Given the description of an element on the screen output the (x, y) to click on. 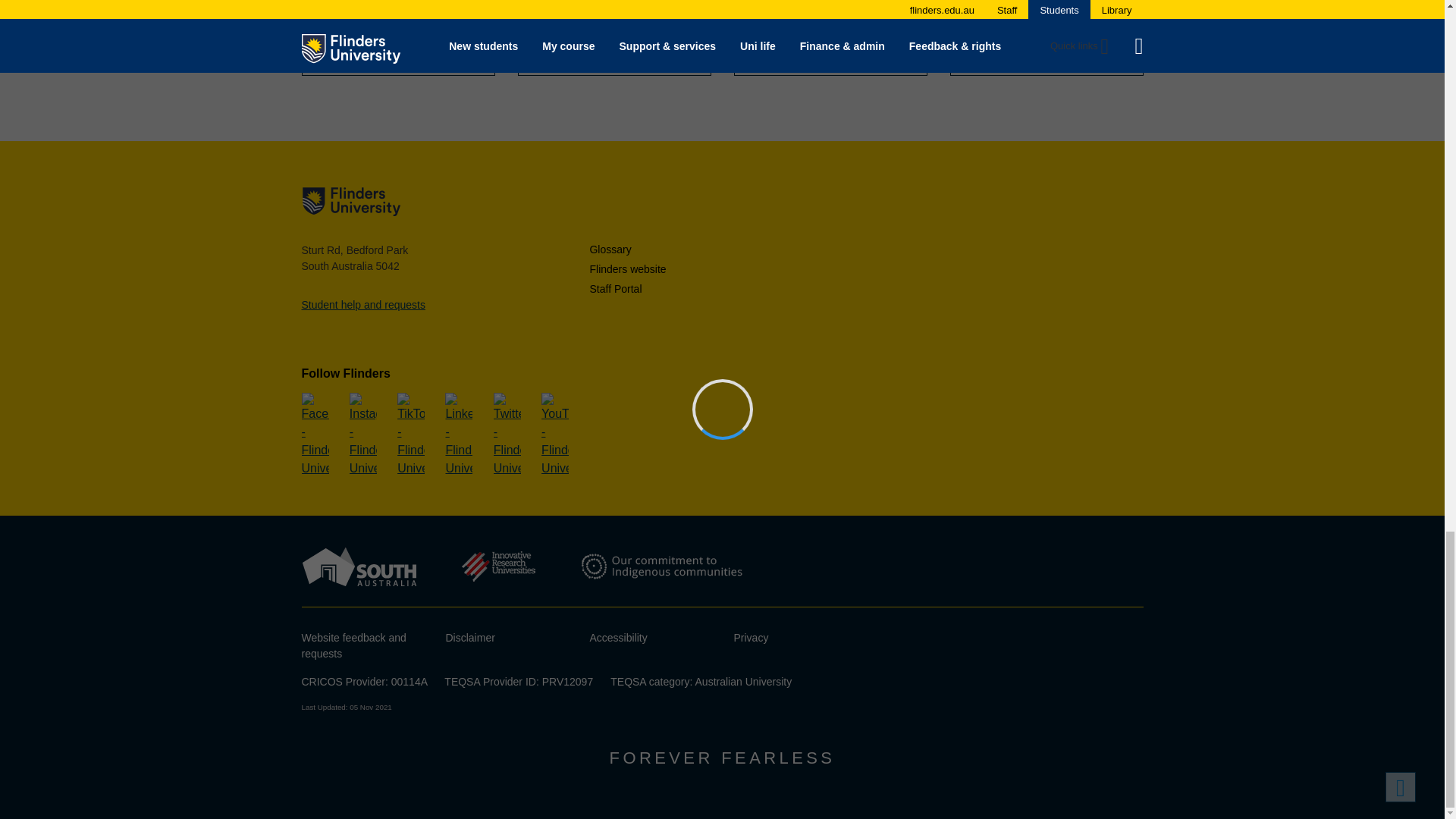
Accessibility (618, 637)
Privacy (750, 637)
Copyright and disclaimer (470, 637)
